Given the description of an element on the screen output the (x, y) to click on. 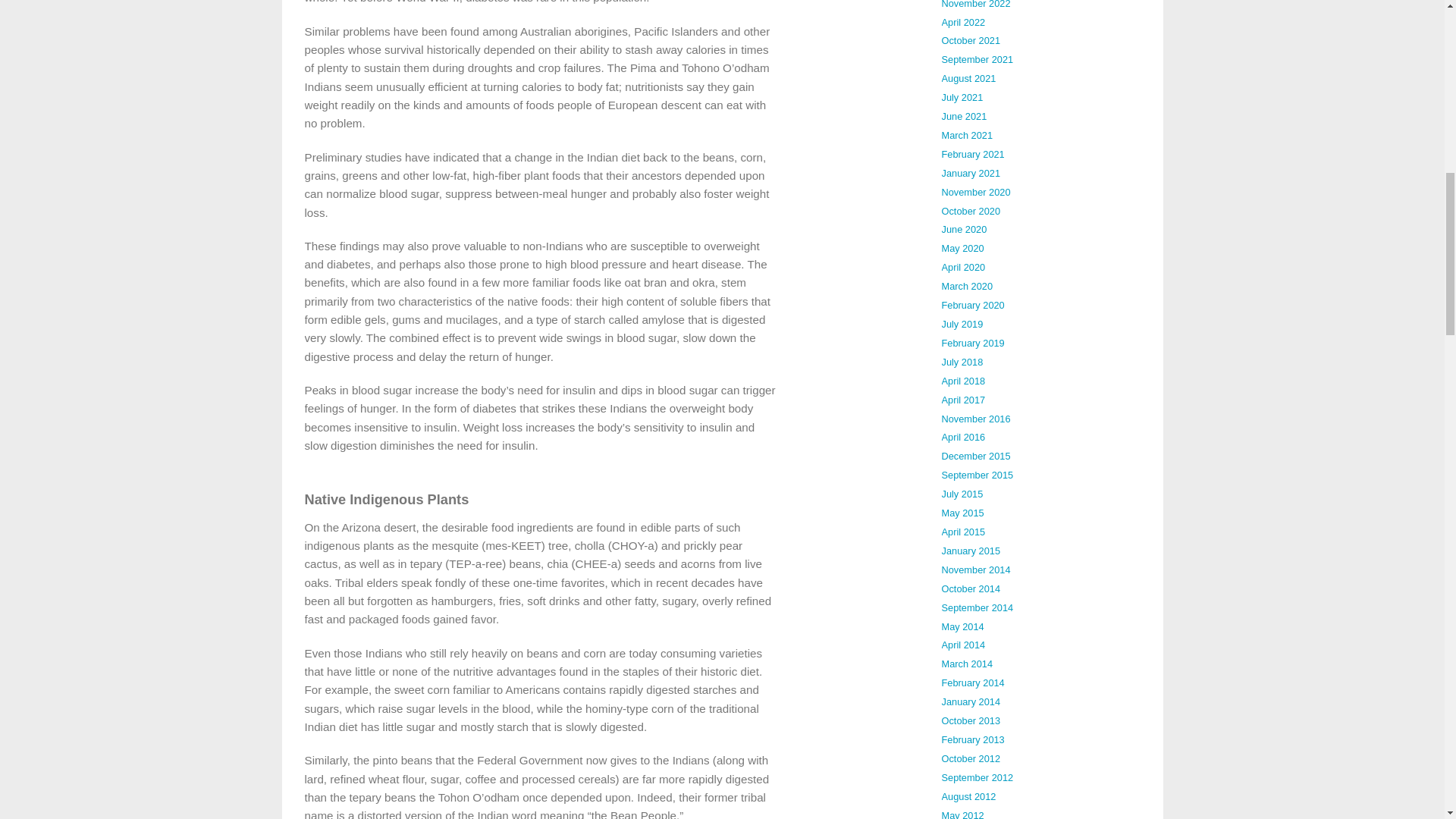
April 2022 (963, 21)
November 2022 (976, 4)
July 2021 (963, 97)
September 2021 (977, 59)
March 2021 (967, 134)
August 2021 (968, 78)
October 2021 (971, 40)
June 2021 (964, 116)
